Given the description of an element on the screen output the (x, y) to click on. 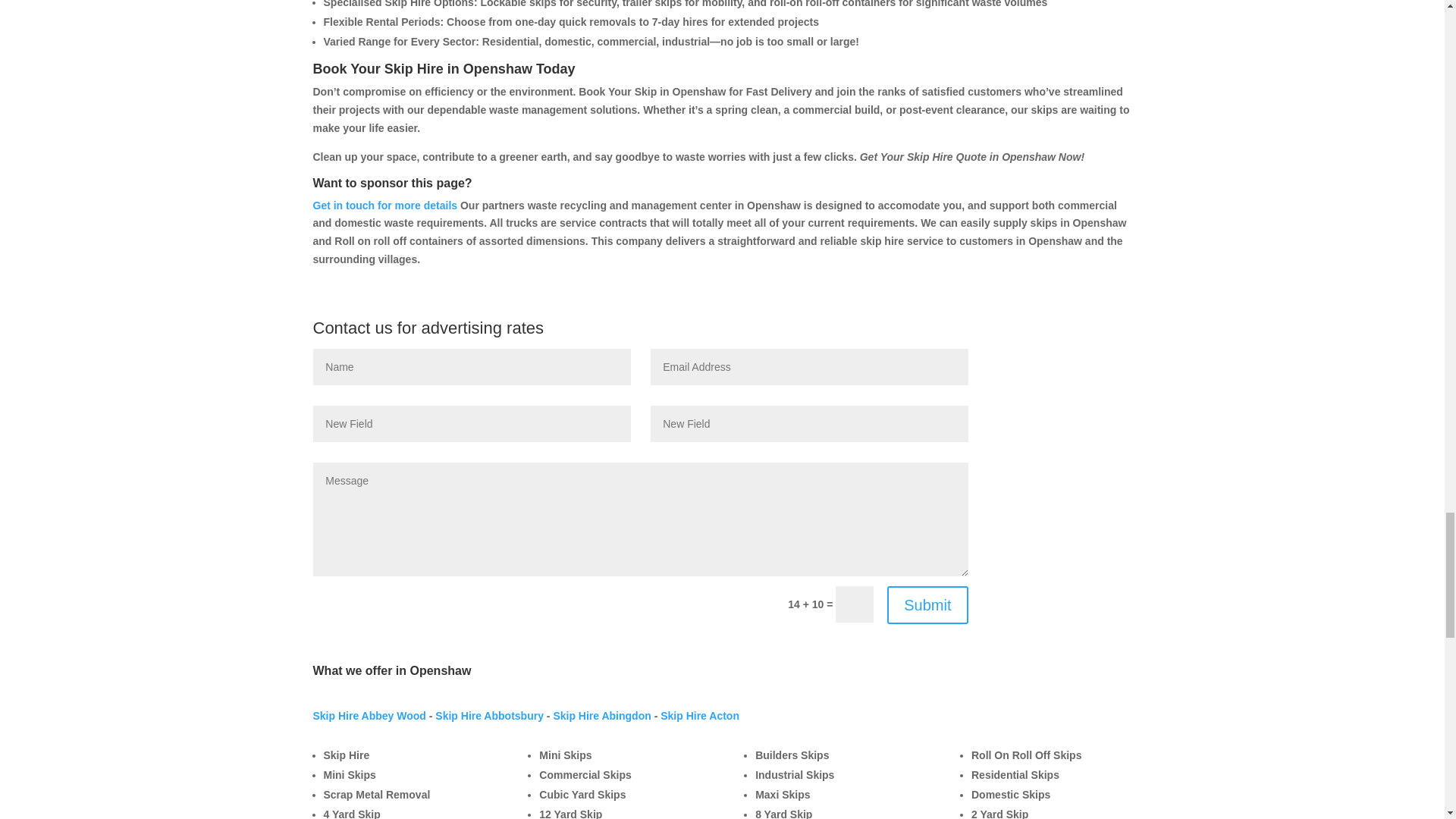
Skip Hire Acton (700, 715)
Submit (927, 605)
Skip Hire Abbey Wood (369, 715)
Skip Hire Abbey Wood (369, 715)
Skip Hire Abingdon (601, 715)
Skip Hire Acton (700, 715)
Skip Hire Abingdon (601, 715)
Skip Hire Abbotsbury (489, 715)
Skip Hire Abbotsbury (489, 715)
Get in touch for more details (385, 204)
